Given the description of an element on the screen output the (x, y) to click on. 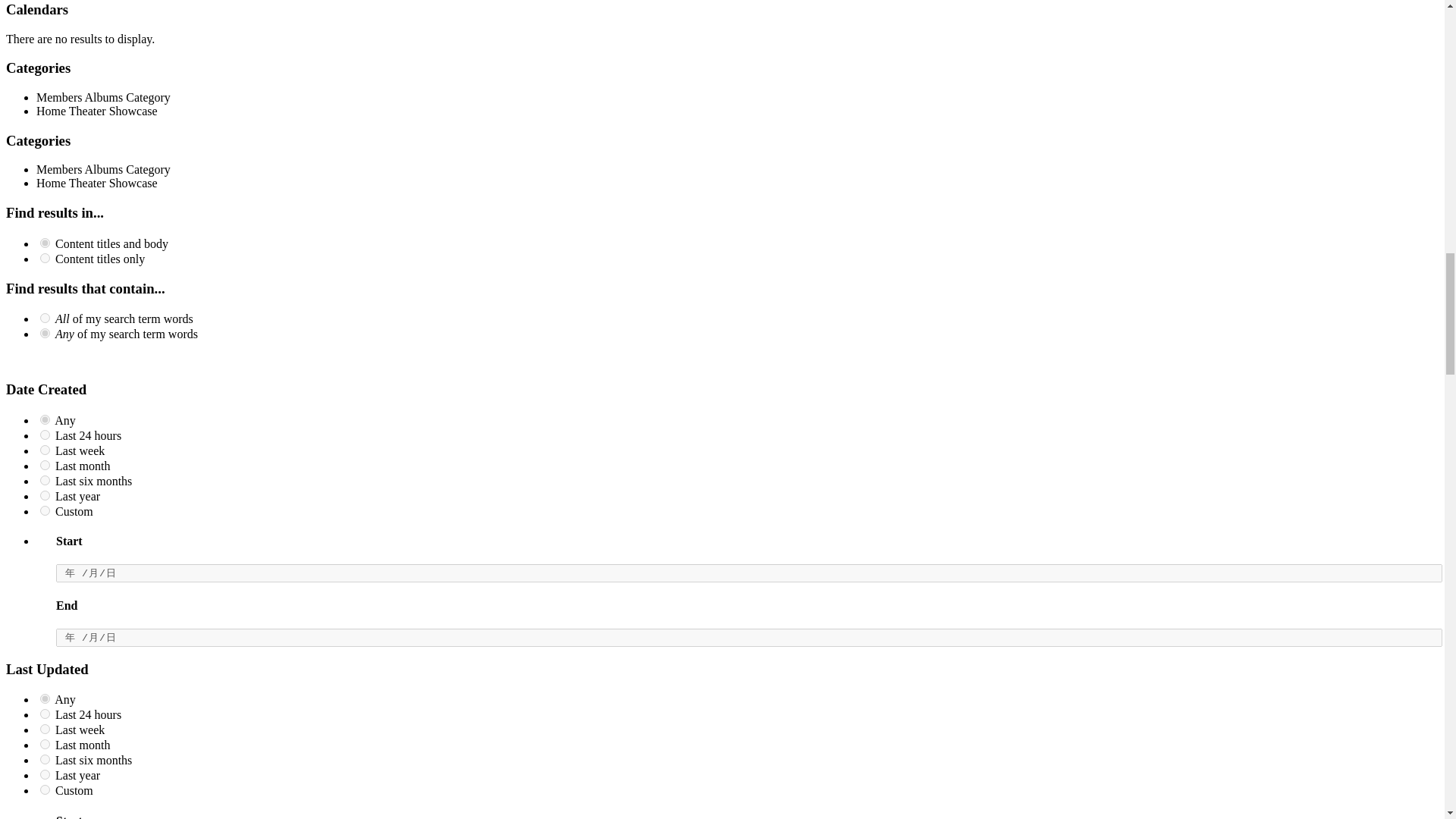
titles (44, 257)
any (44, 419)
week (44, 450)
month (44, 465)
or (44, 333)
and (44, 317)
day (44, 434)
all (44, 243)
